Given the description of an element on the screen output the (x, y) to click on. 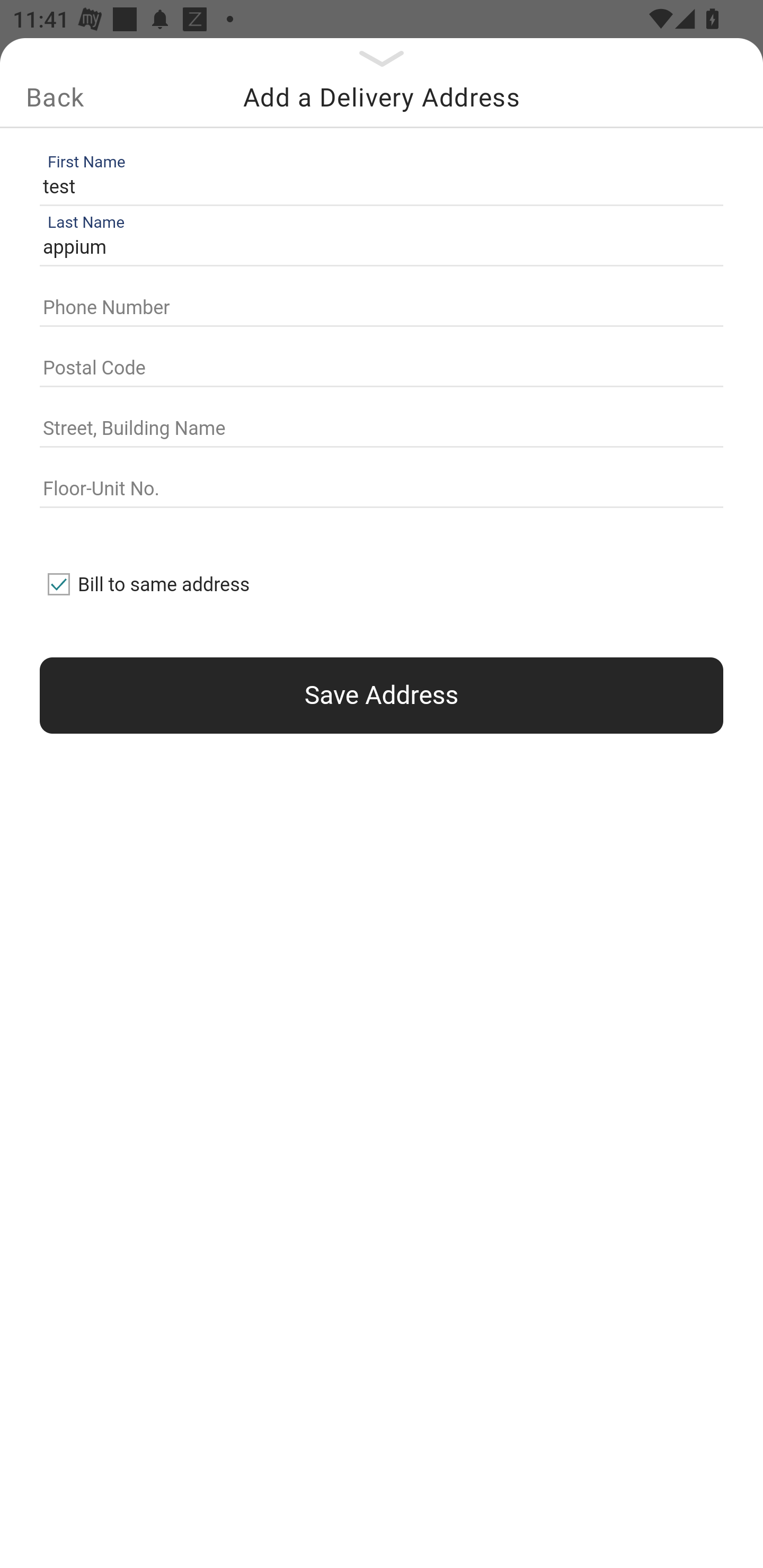
Back (54, 96)
Add a Delivery Address (381, 96)
test (377, 186)
appium (377, 247)
Save Address (381, 694)
